Given the description of an element on the screen output the (x, y) to click on. 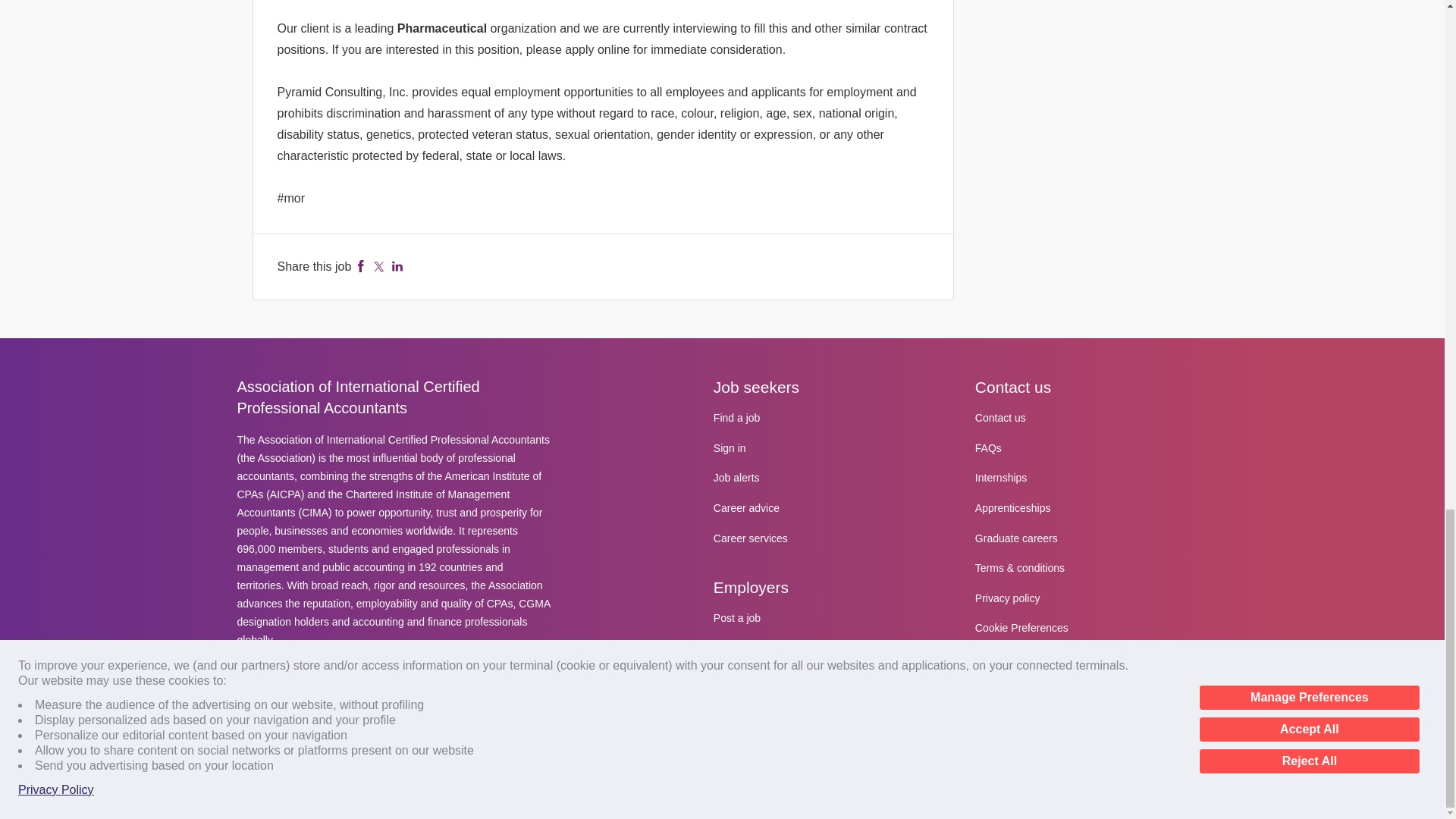
Facebook (360, 266)
Twitter (378, 266)
LinkedIn (397, 266)
